Given the description of an element on the screen output the (x, y) to click on. 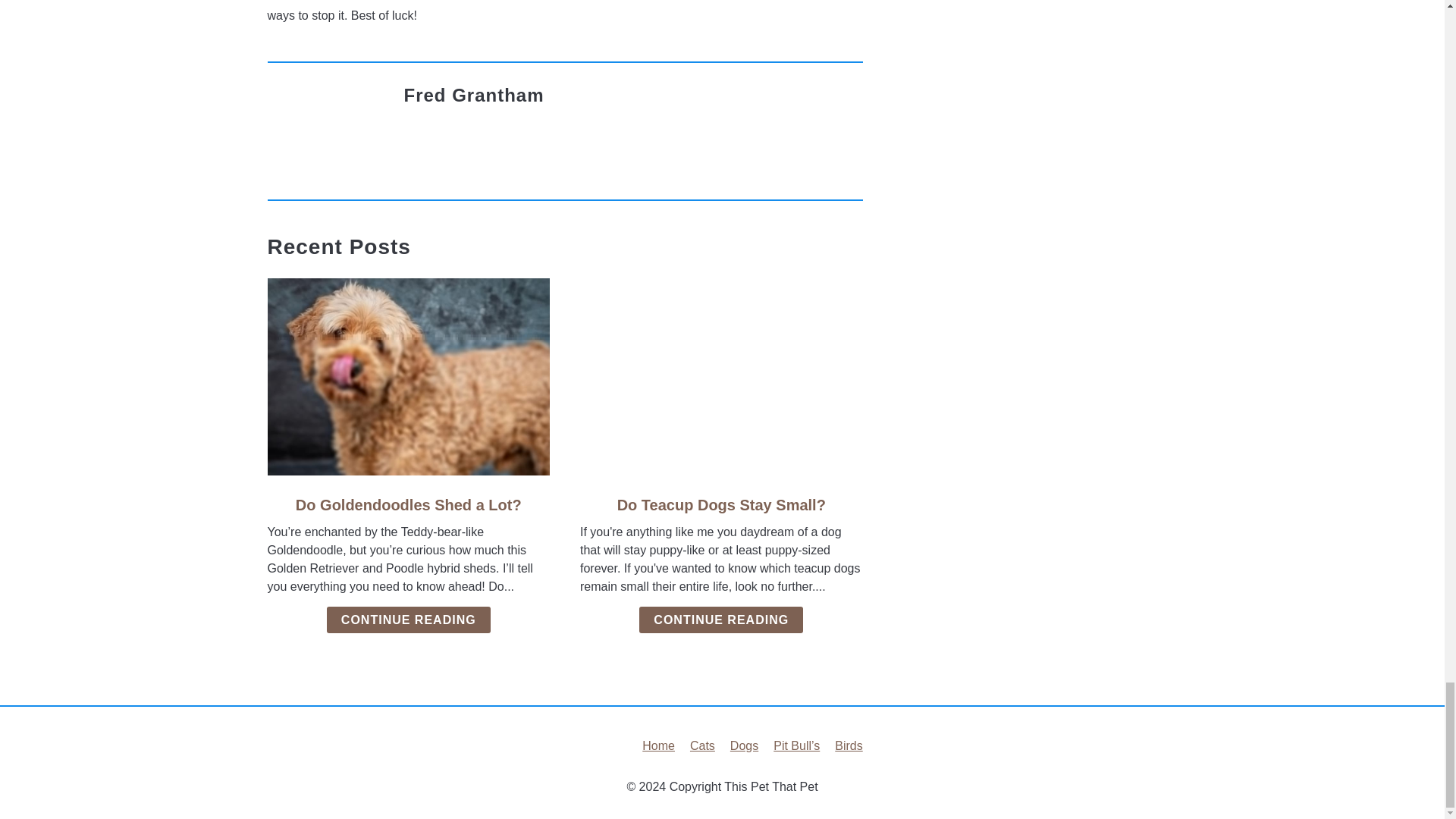
Do Teacup Dogs Stay Small? (721, 504)
Fred Grantham (473, 95)
CONTINUE READING (721, 619)
Cats (702, 745)
link to Do Goldendoodles Shed a Lot? (408, 376)
Do Goldendoodles Shed a Lot? (408, 504)
Home (658, 745)
Birds (847, 745)
link to Do Teacup Dogs Stay Small? (721, 376)
Dogs (744, 745)
